Given the description of an element on the screen output the (x, y) to click on. 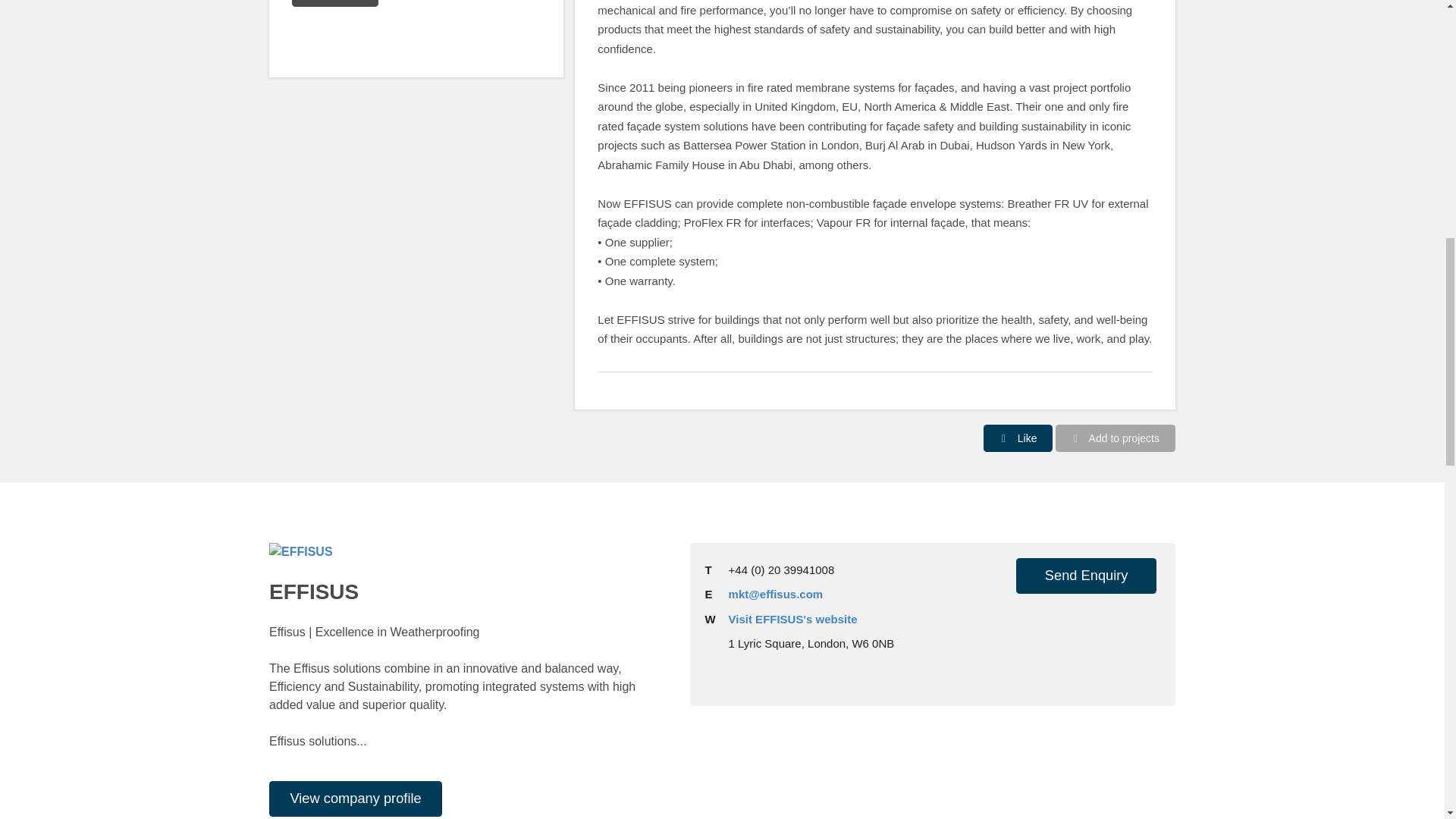
EFFISUS (301, 551)
Follow EFFISUS on LinkedIn (1029, 629)
Share on LinkedIn (363, 35)
Follow EFFISUS on YouTube (1058, 629)
Share on Pinterest (394, 35)
Share on Twitter (334, 35)
Share on Facebook (305, 35)
